Given the description of an element on the screen output the (x, y) to click on. 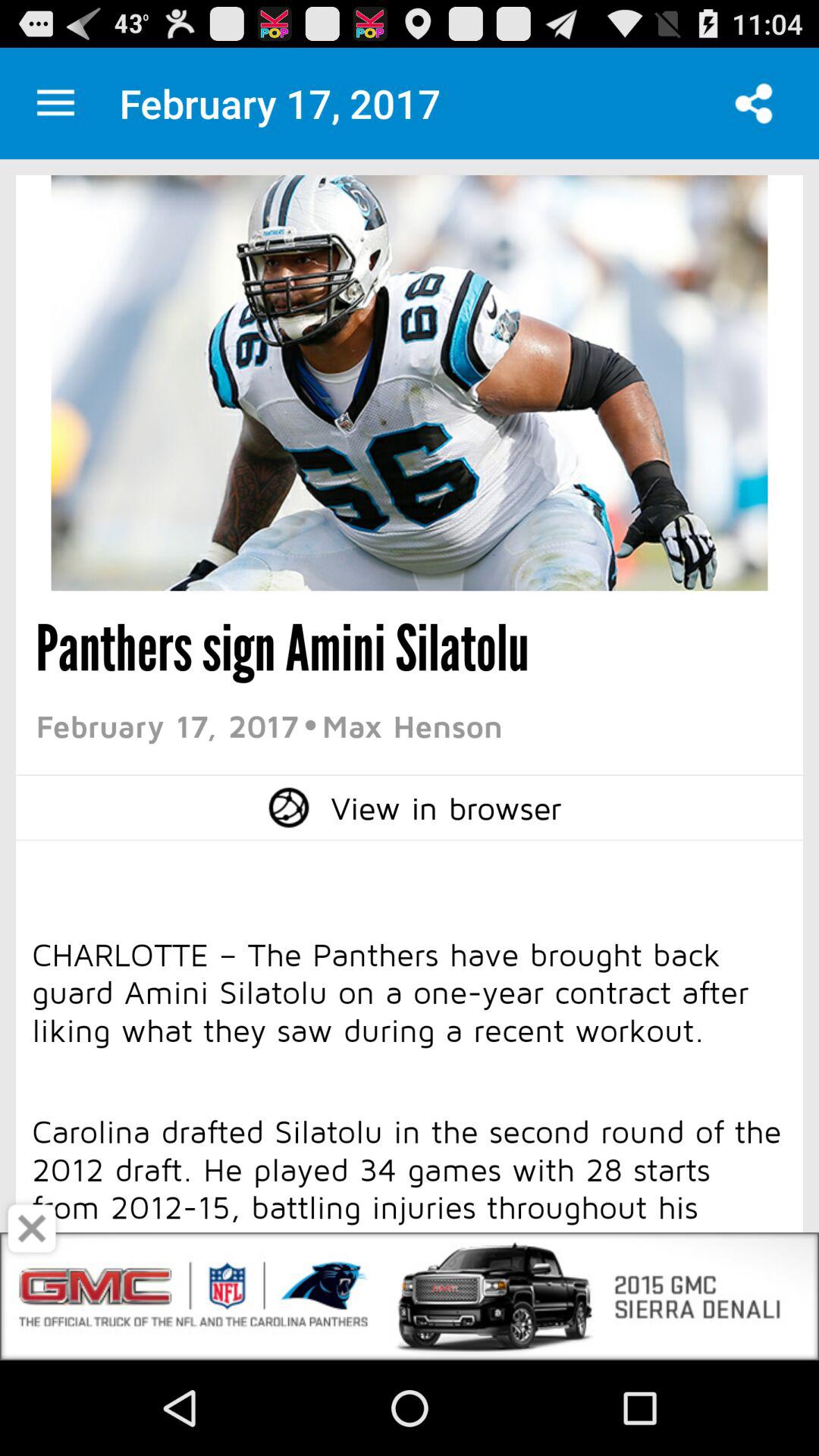
open an advertisements (409, 1110)
